Given the description of an element on the screen output the (x, y) to click on. 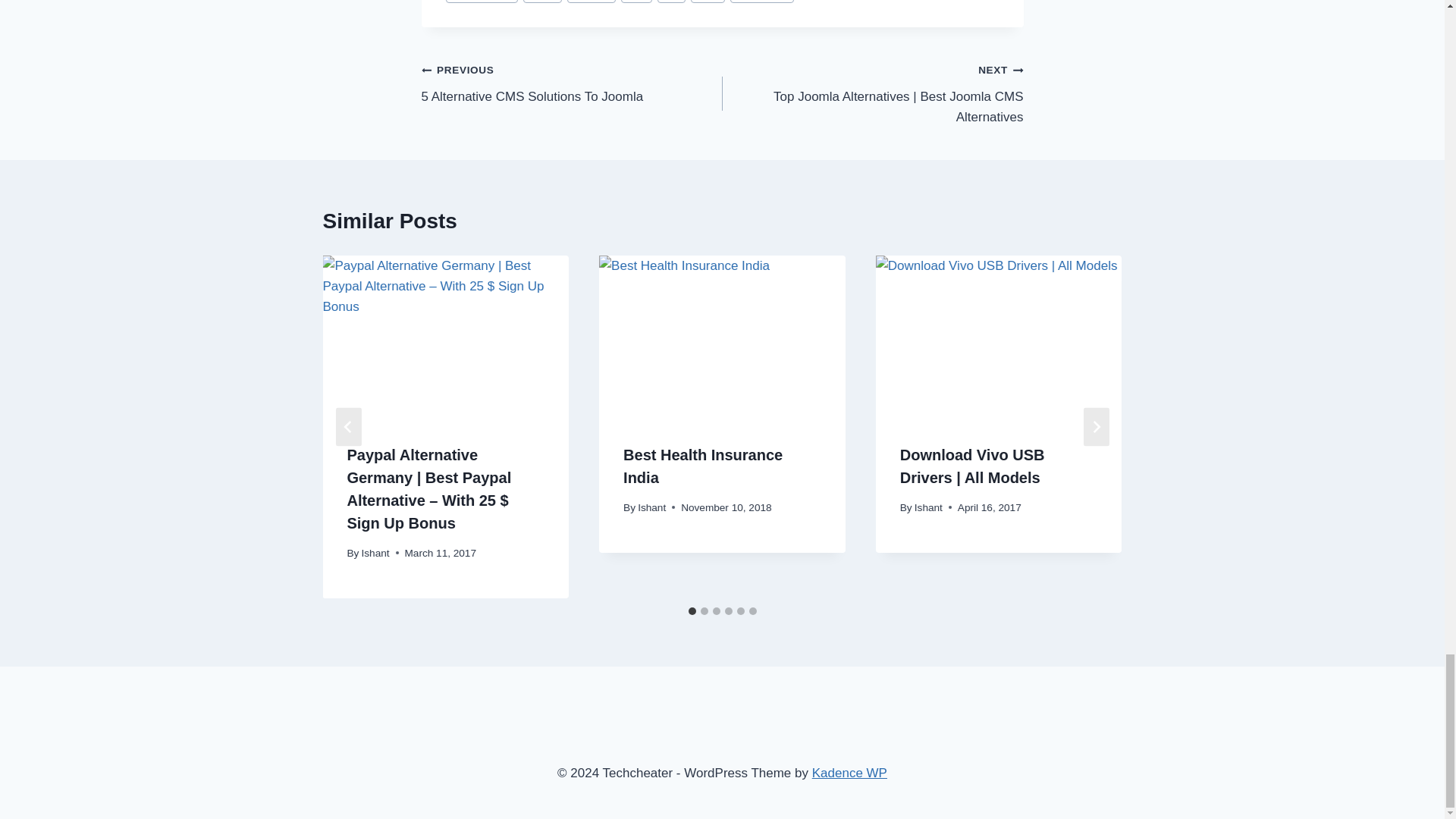
for (636, 1)
drupal (591, 1)
top (707, 1)
which are (761, 1)
alternatives (572, 82)
of (481, 1)
best (671, 1)
